Given the description of an element on the screen output the (x, y) to click on. 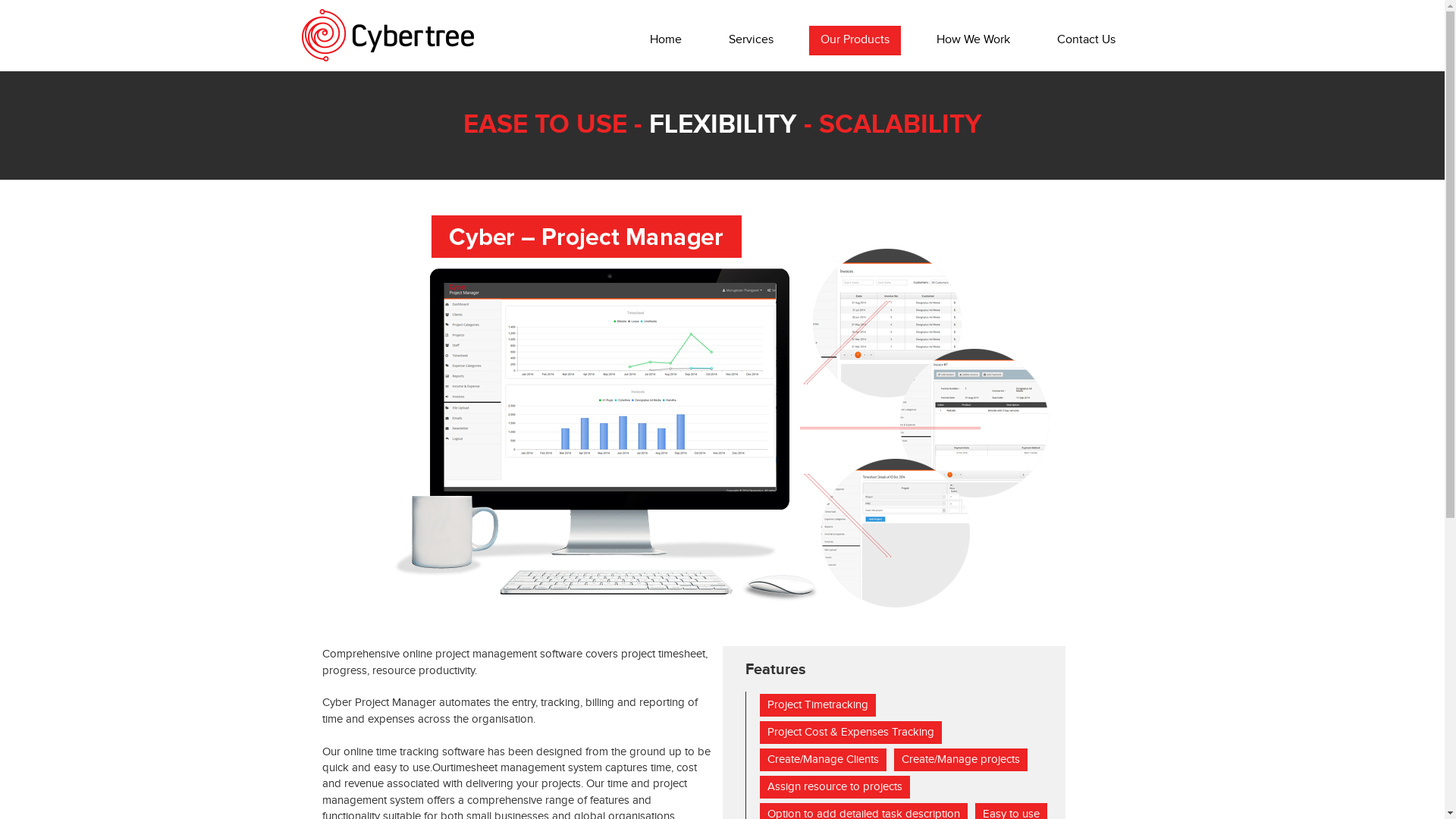
Cybertree Element type: hover (387, 35)
Our Products Element type: text (854, 40)
Home Element type: text (665, 40)
How We Work Element type: text (973, 40)
Services Element type: text (750, 40)
Contact Us Element type: text (1085, 40)
